Given the description of an element on the screen output the (x, y) to click on. 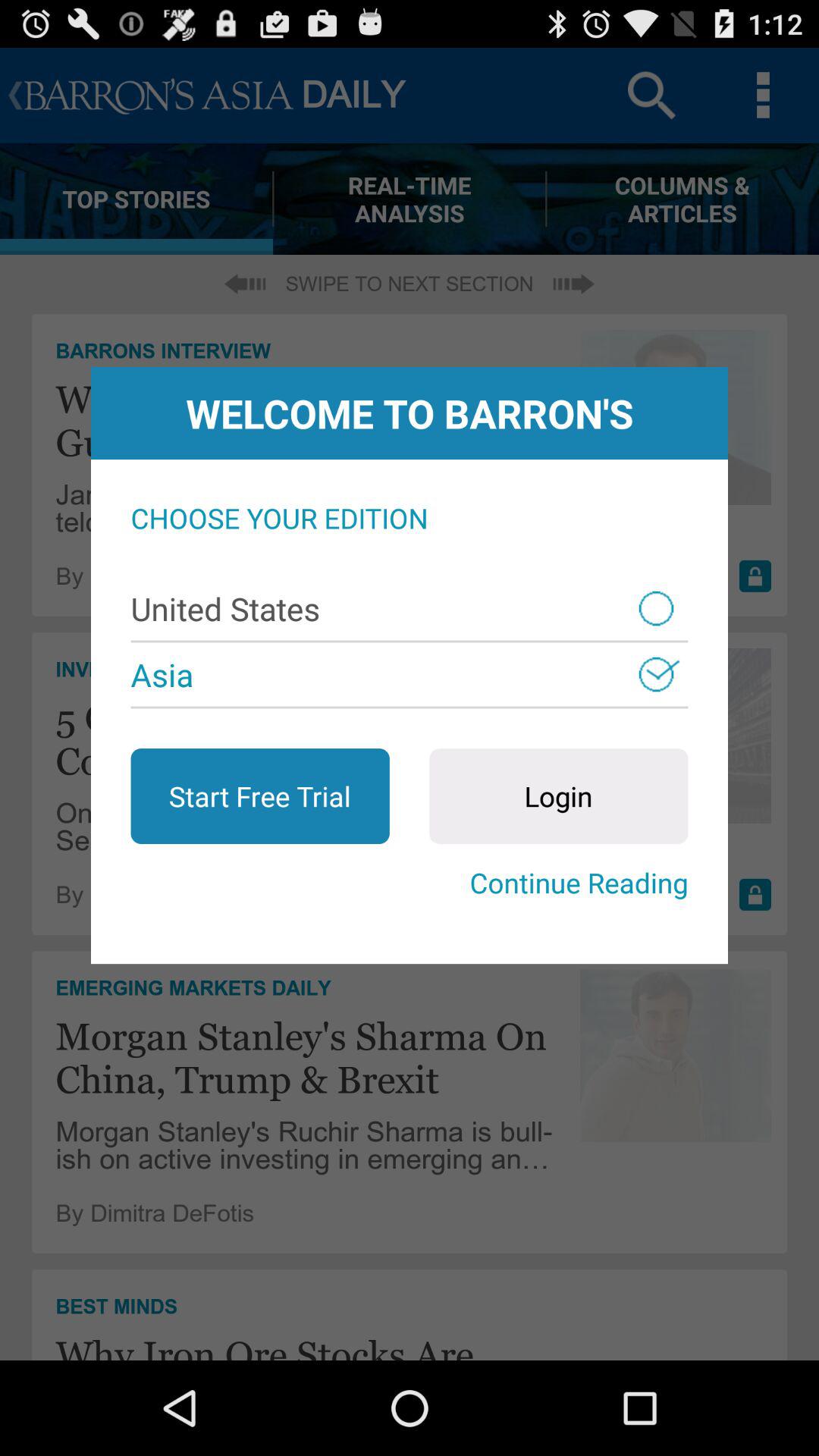
turn off item below the choose your edition app (409, 608)
